Given the description of an element on the screen output the (x, y) to click on. 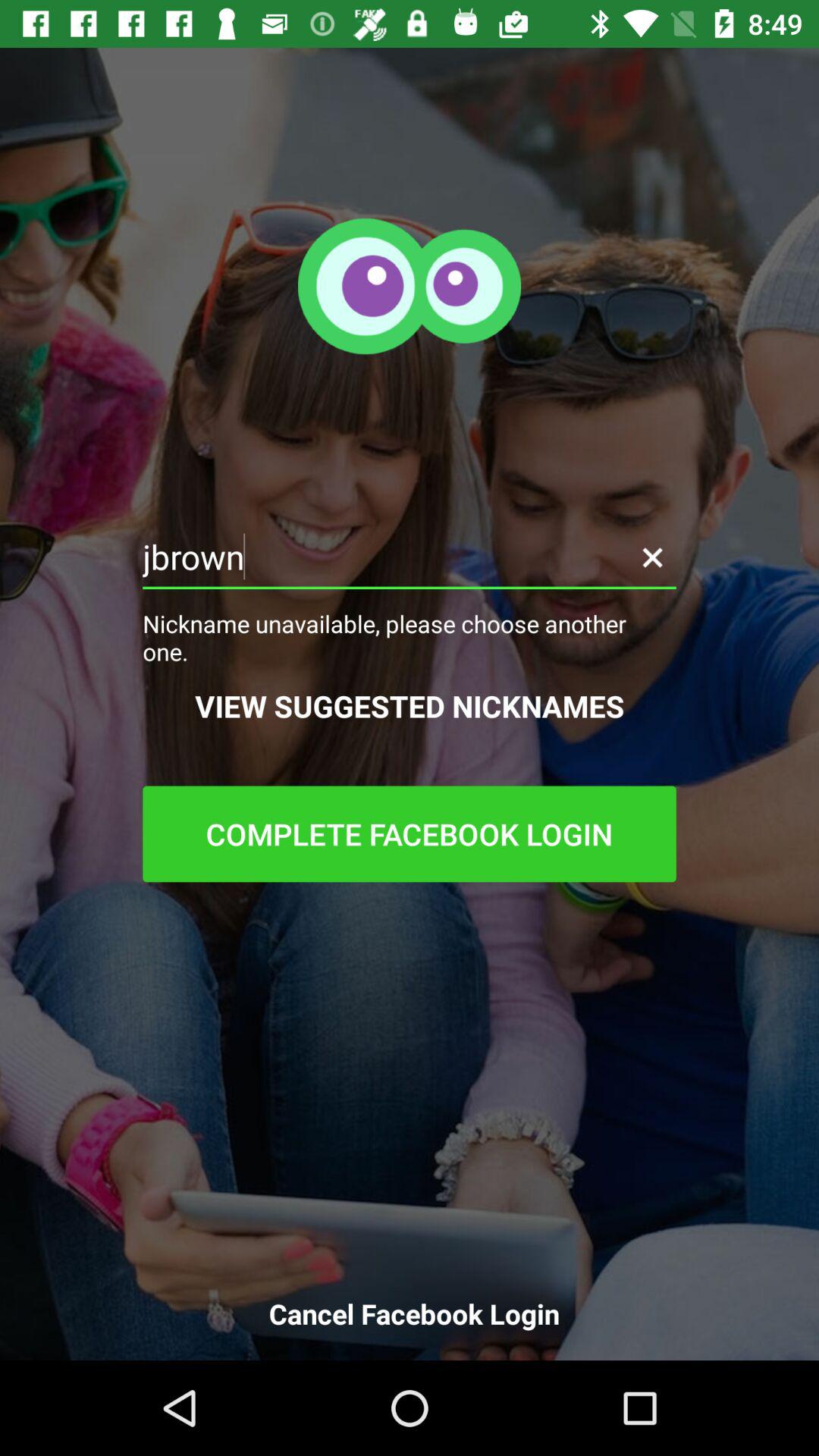
flip until the jbrown icon (409, 557)
